Given the description of an element on the screen output the (x, y) to click on. 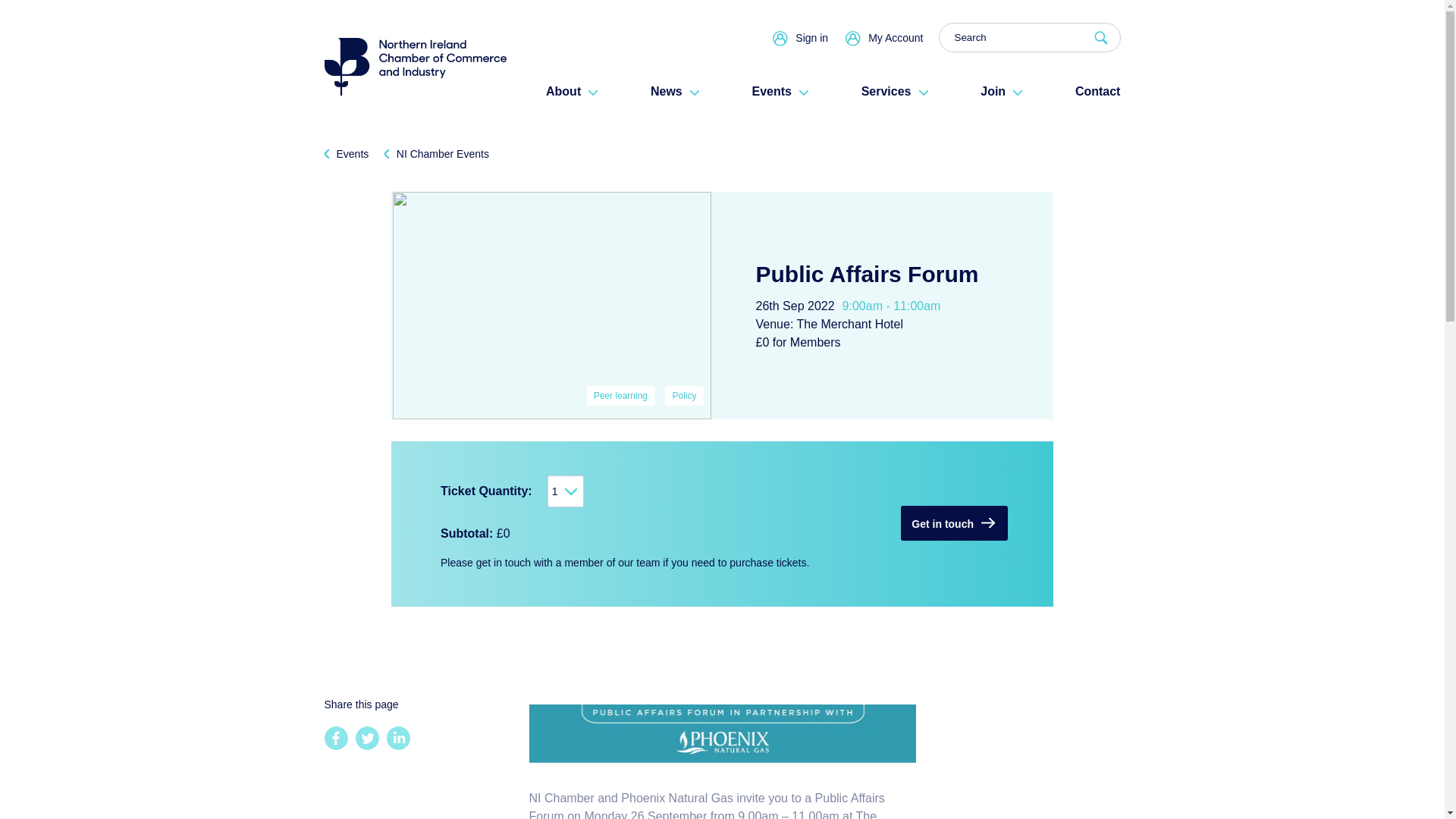
About (572, 91)
My Account (895, 36)
Services (894, 91)
Contact (1098, 91)
Search (1030, 37)
Events (779, 91)
Sign in (811, 36)
News (675, 91)
Join (1001, 91)
